Given the description of an element on the screen output the (x, y) to click on. 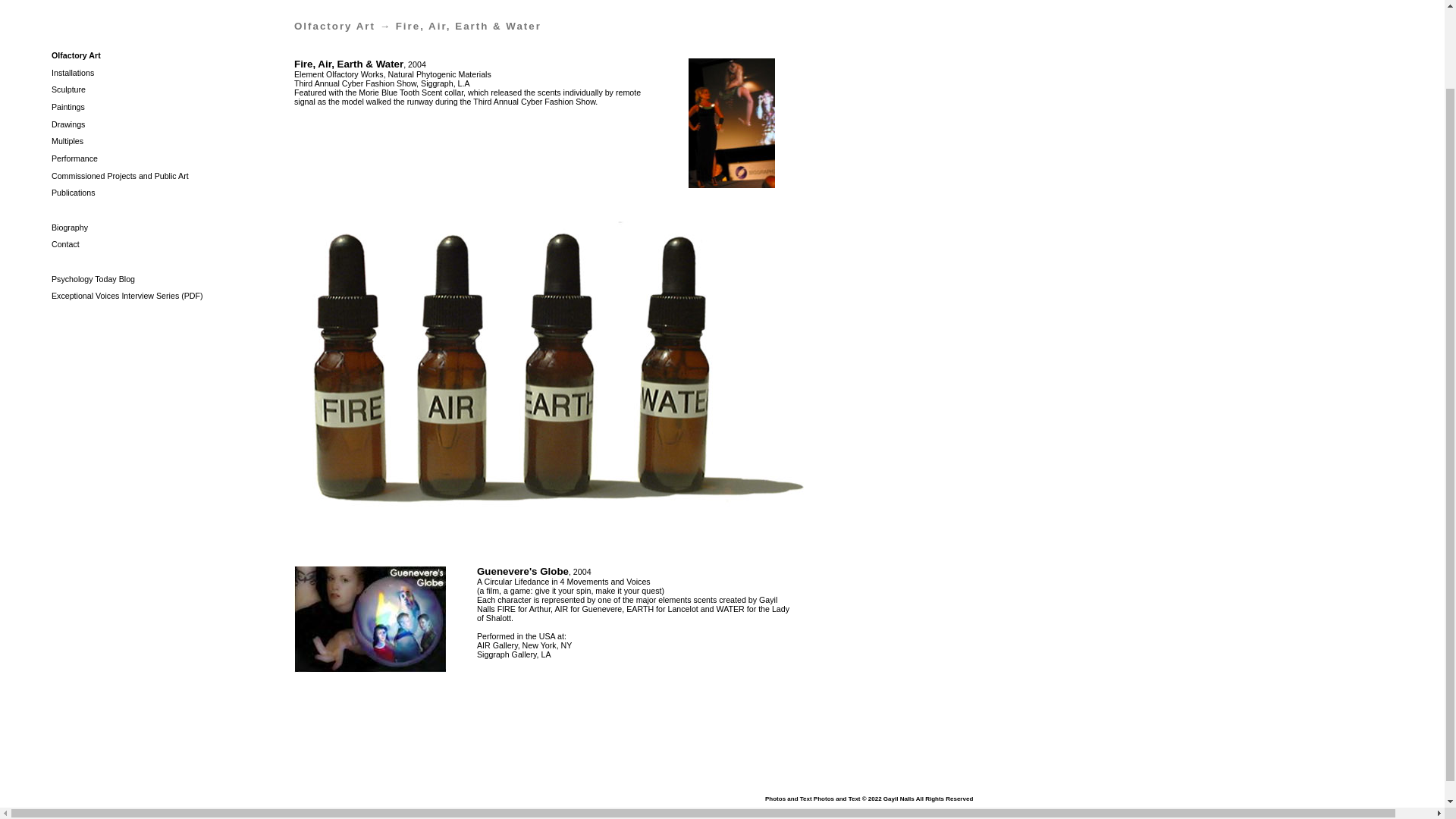
Olfactory Art (75, 54)
Psychology Today Blog (92, 278)
Sculpture (67, 89)
Installations (72, 71)
Performance (73, 157)
Olfactory Art (334, 25)
Commissioned Projects and Public Art (119, 175)
Multiples (66, 140)
Paintings (67, 106)
Contact (65, 243)
Drawings (67, 123)
Biography (68, 226)
Publications (72, 192)
